Given the description of an element on the screen output the (x, y) to click on. 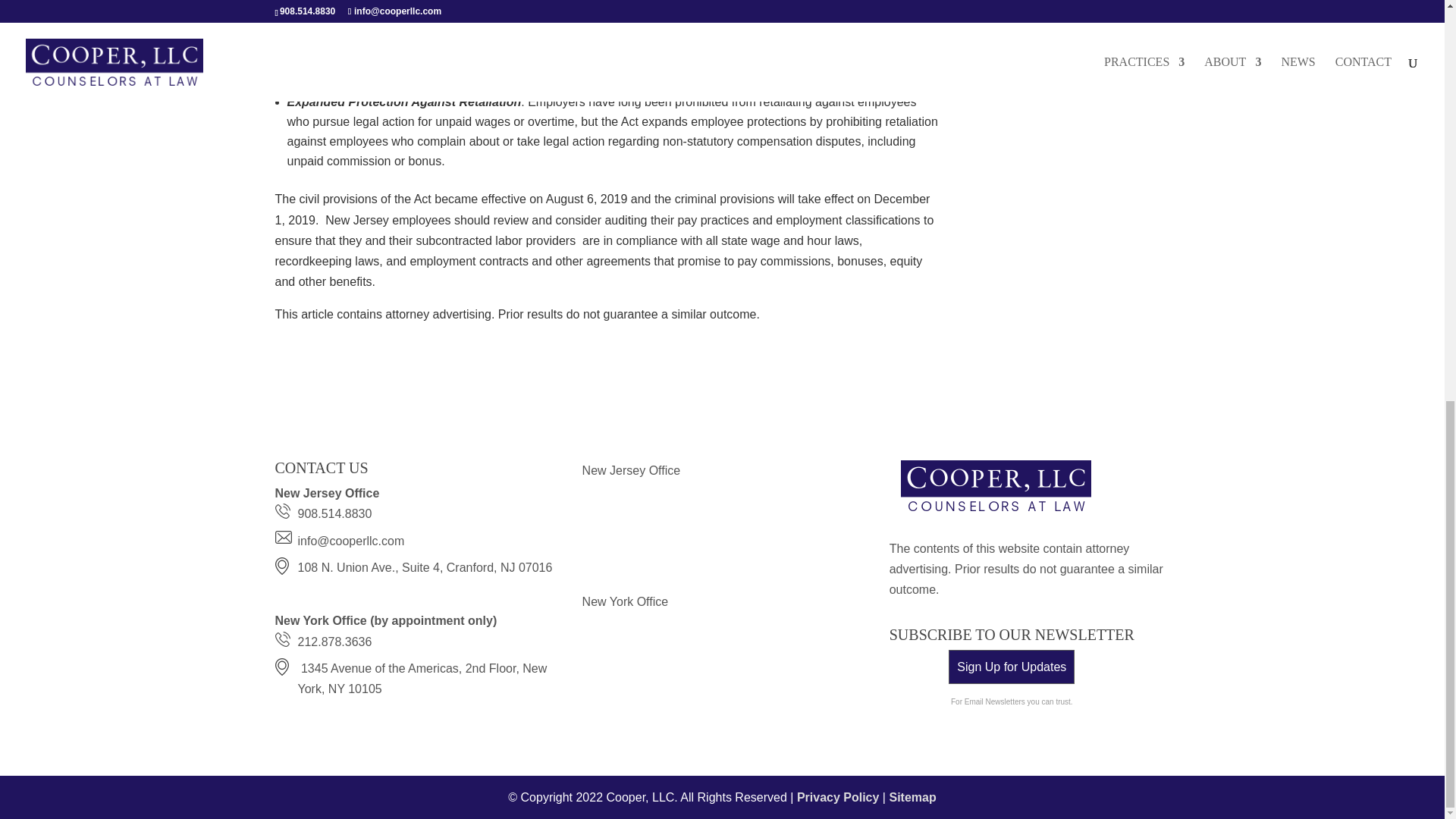
Sign Up for Updates (1011, 666)
Sitemap (912, 797)
Privacy Policy (837, 797)
